Given the description of an element on the screen output the (x, y) to click on. 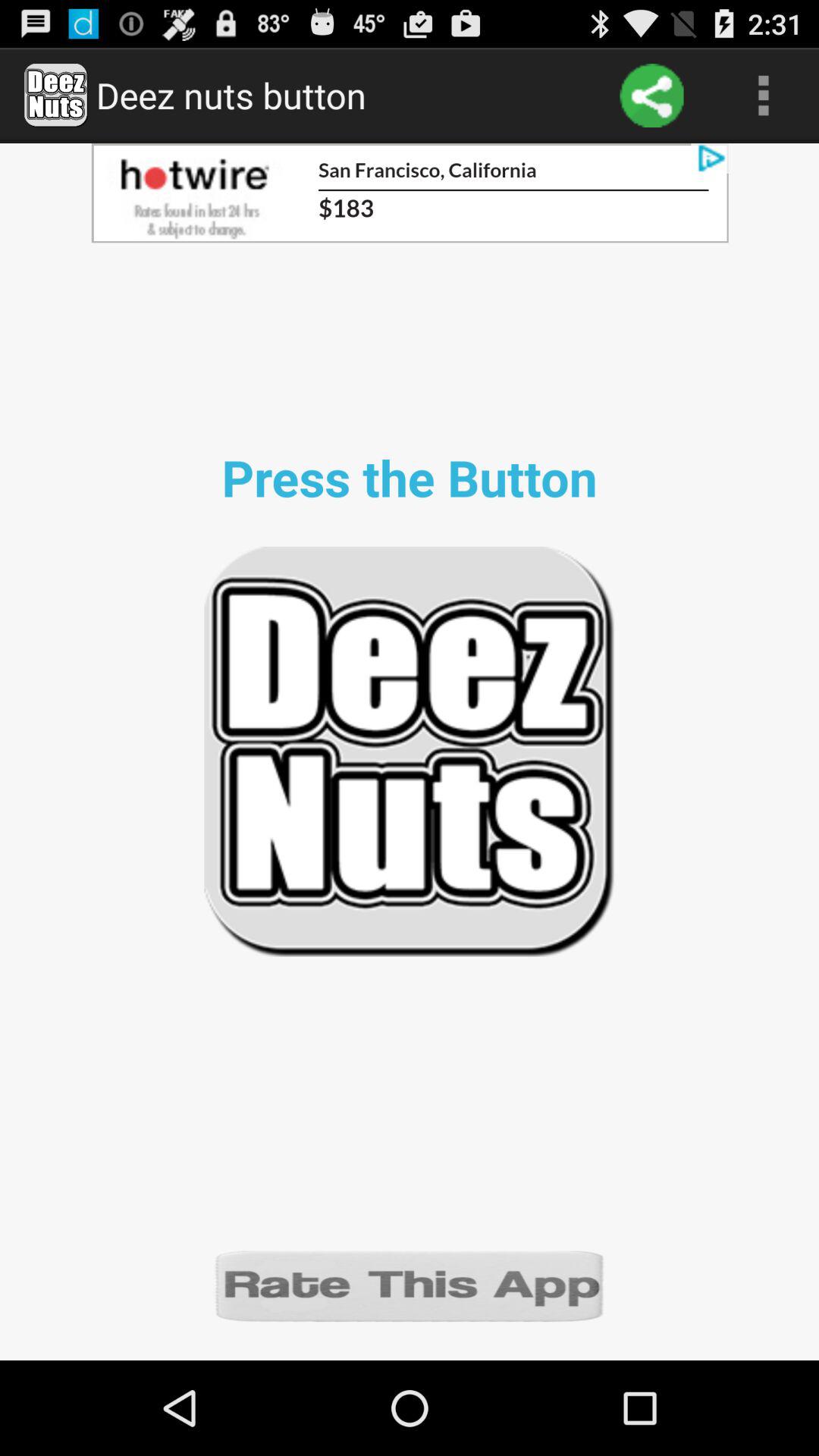
go to rate the app (409, 1285)
